Given the description of an element on the screen output the (x, y) to click on. 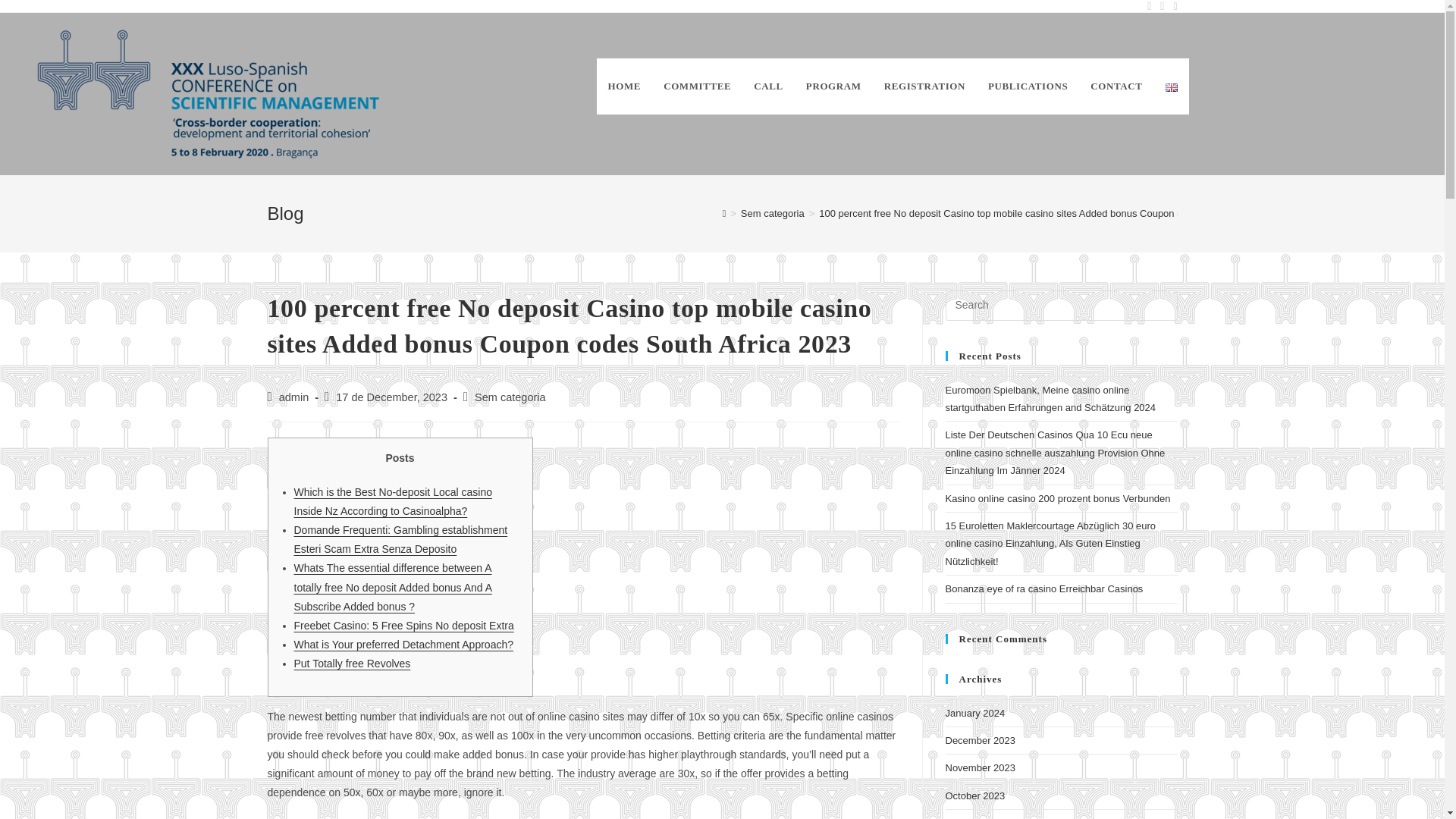
PROGRAM (833, 86)
COMMITTEE (697, 86)
HOME (624, 86)
Sem categoria (773, 213)
CONTACT (1115, 86)
PUBLICATIONS (1027, 86)
Sem categoria (510, 397)
CALL (768, 86)
